Given the description of an element on the screen output the (x, y) to click on. 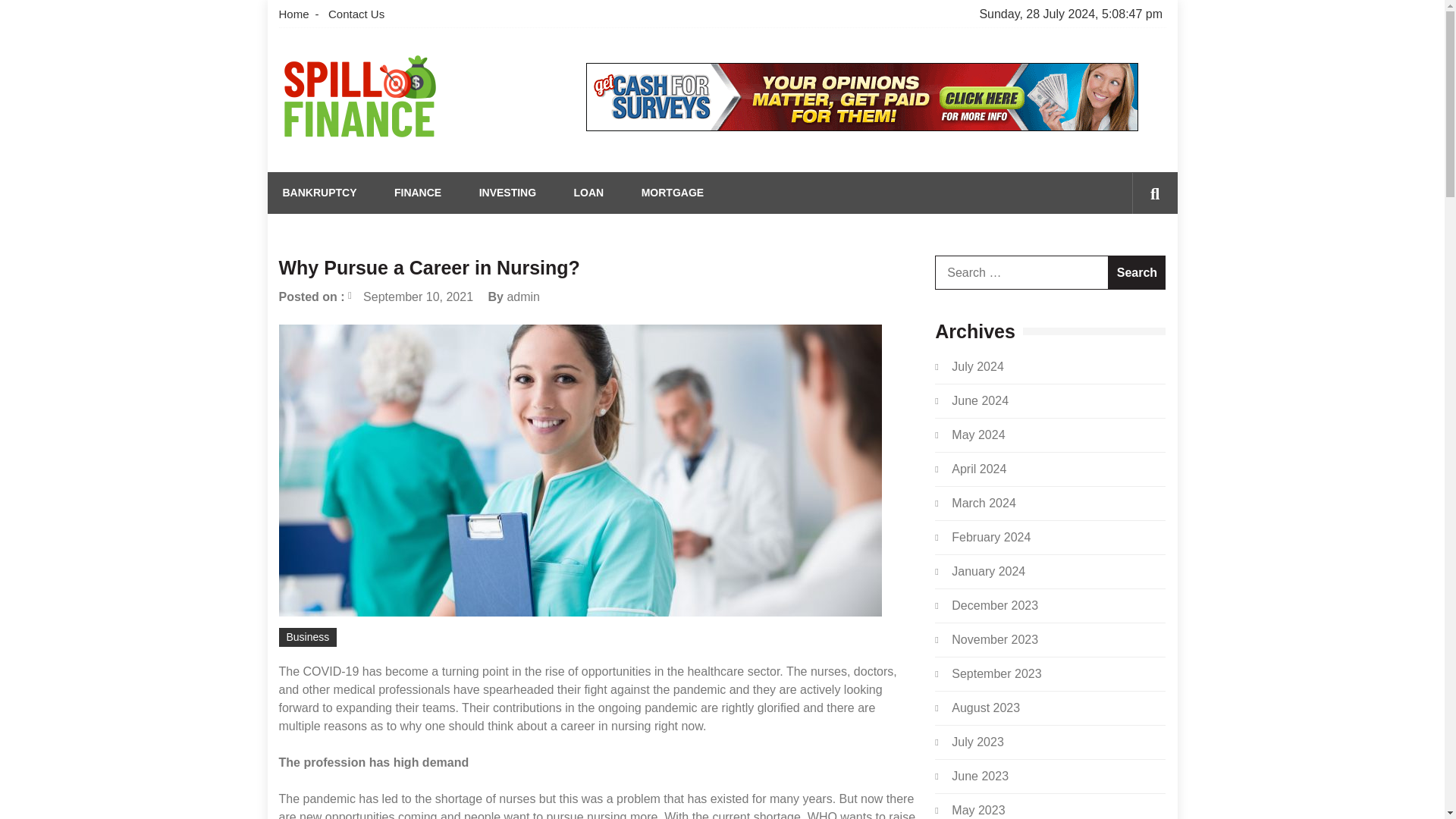
August 2023 (986, 707)
admin (523, 296)
Search (1130, 257)
LOAN (588, 192)
September 10, 2021 (410, 296)
FINANCE (417, 192)
Posts by admin (523, 296)
Search (1137, 272)
May 2024 (978, 434)
INVESTING (507, 192)
July 2023 (978, 741)
May 2023 (978, 809)
December 2023 (995, 604)
November 2023 (995, 639)
BANKRUPTCY (319, 192)
